Given the description of an element on the screen output the (x, y) to click on. 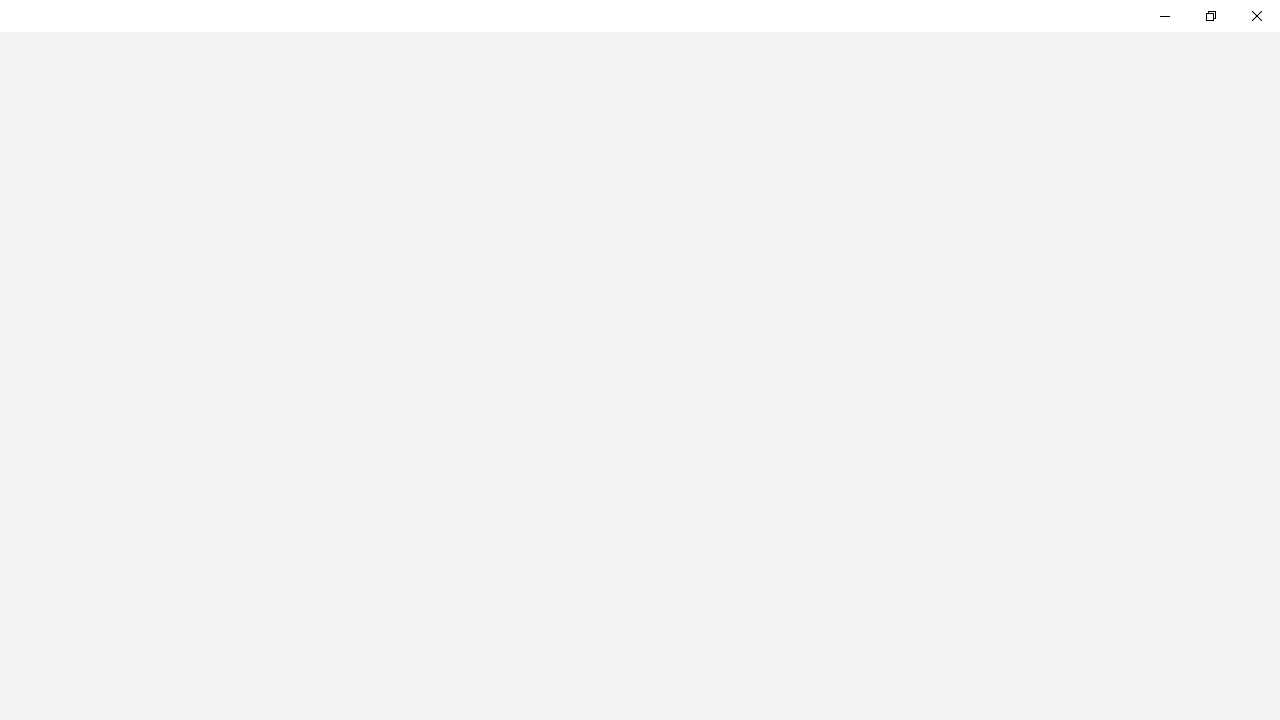
Close Feedback Hub (1256, 15)
Restore Feedback Hub (1210, 15)
Minimize Feedback Hub (1164, 15)
